Given the description of an element on the screen output the (x, y) to click on. 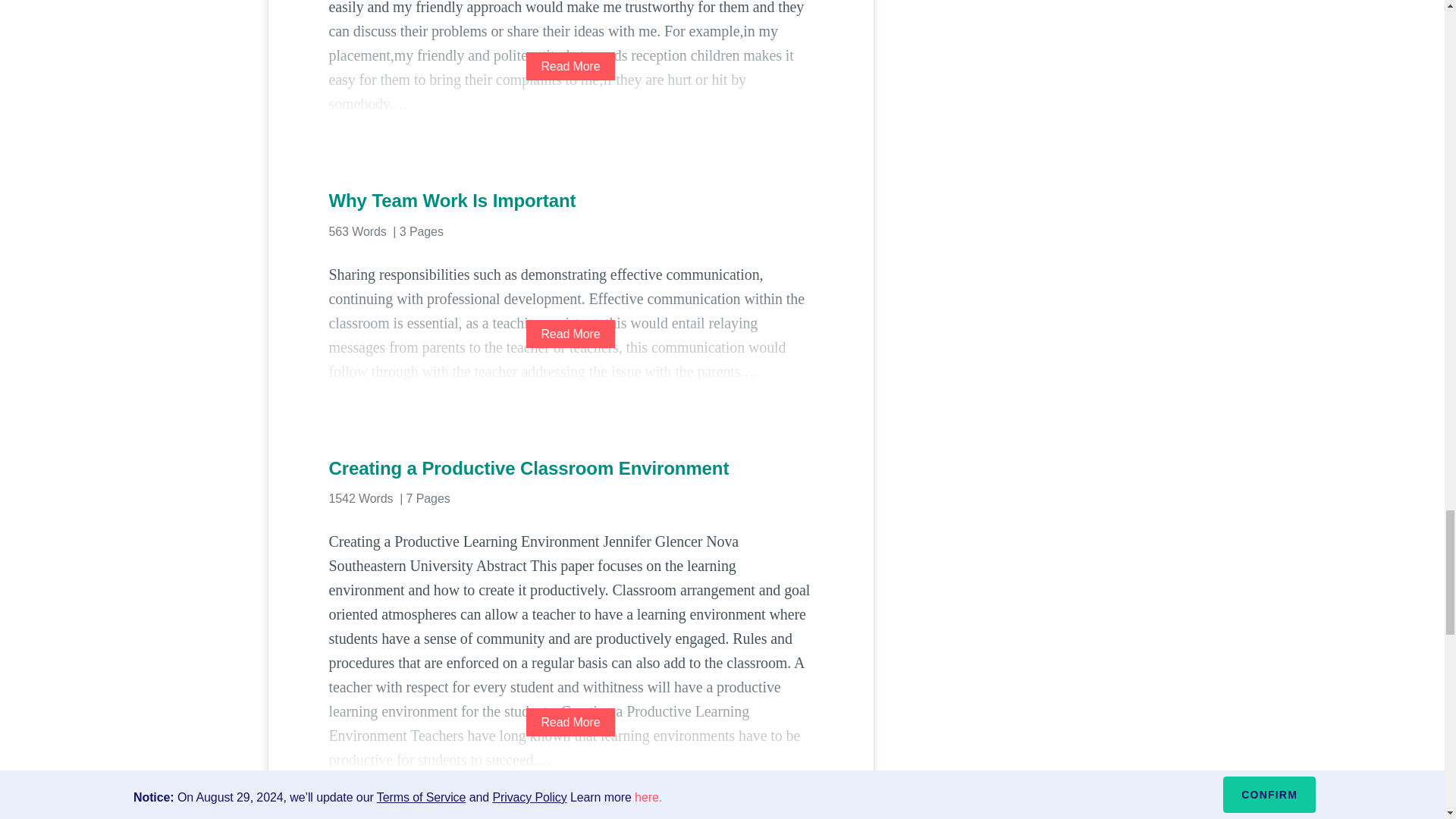
Why Team Work Is Important (570, 200)
Read More (569, 334)
Creating a Productive Classroom Environment (570, 468)
Read More (569, 66)
Read More (569, 722)
